Given the description of an element on the screen output the (x, y) to click on. 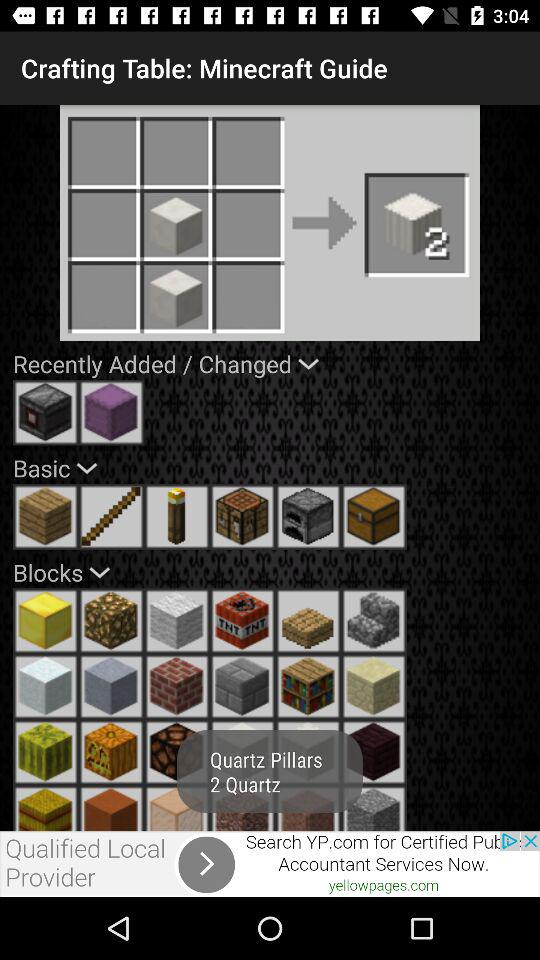
select element (111, 516)
